Given the description of an element on the screen output the (x, y) to click on. 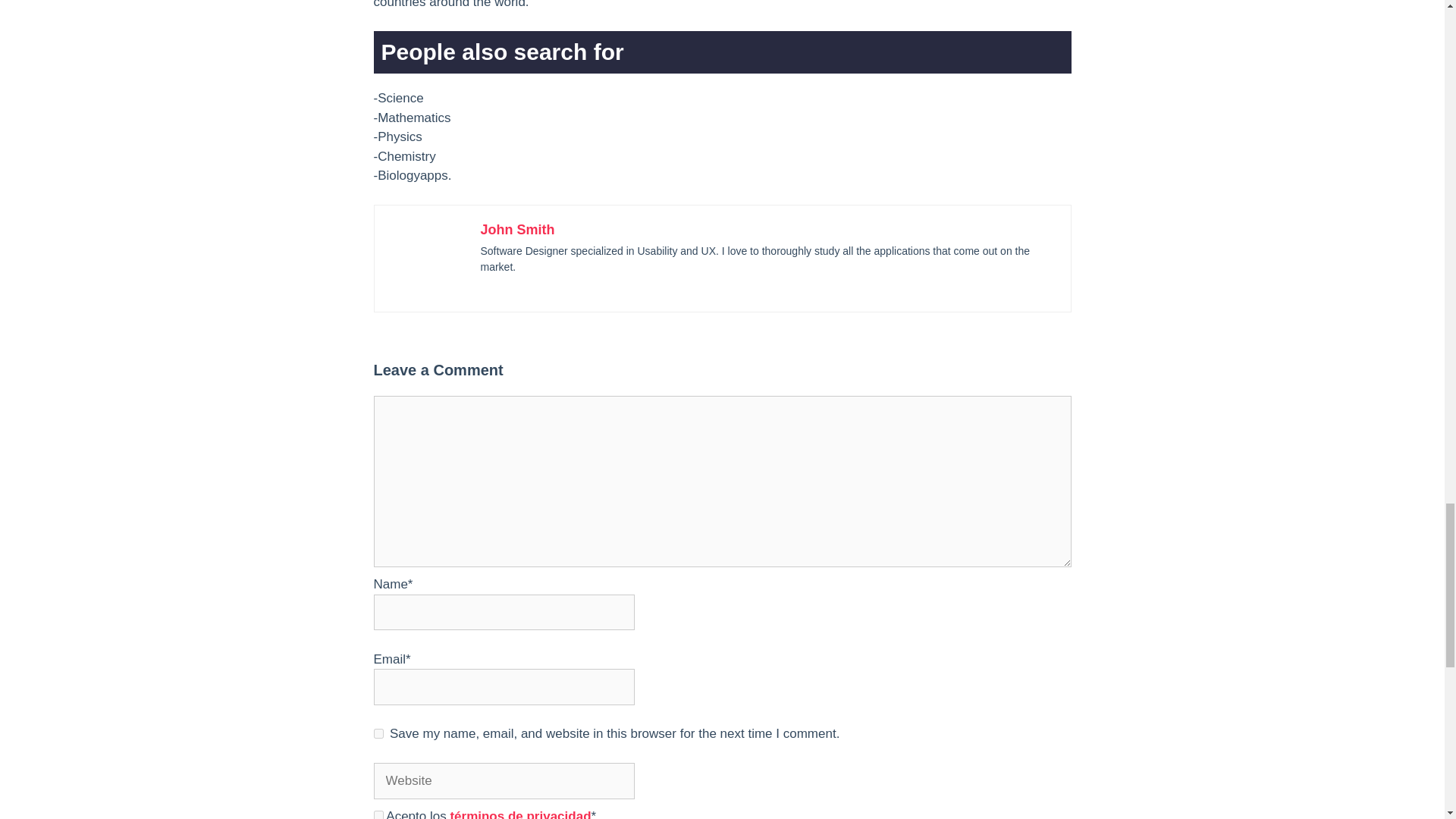
yes (377, 733)
on (377, 814)
John Smith (517, 229)
